Given the description of an element on the screen output the (x, y) to click on. 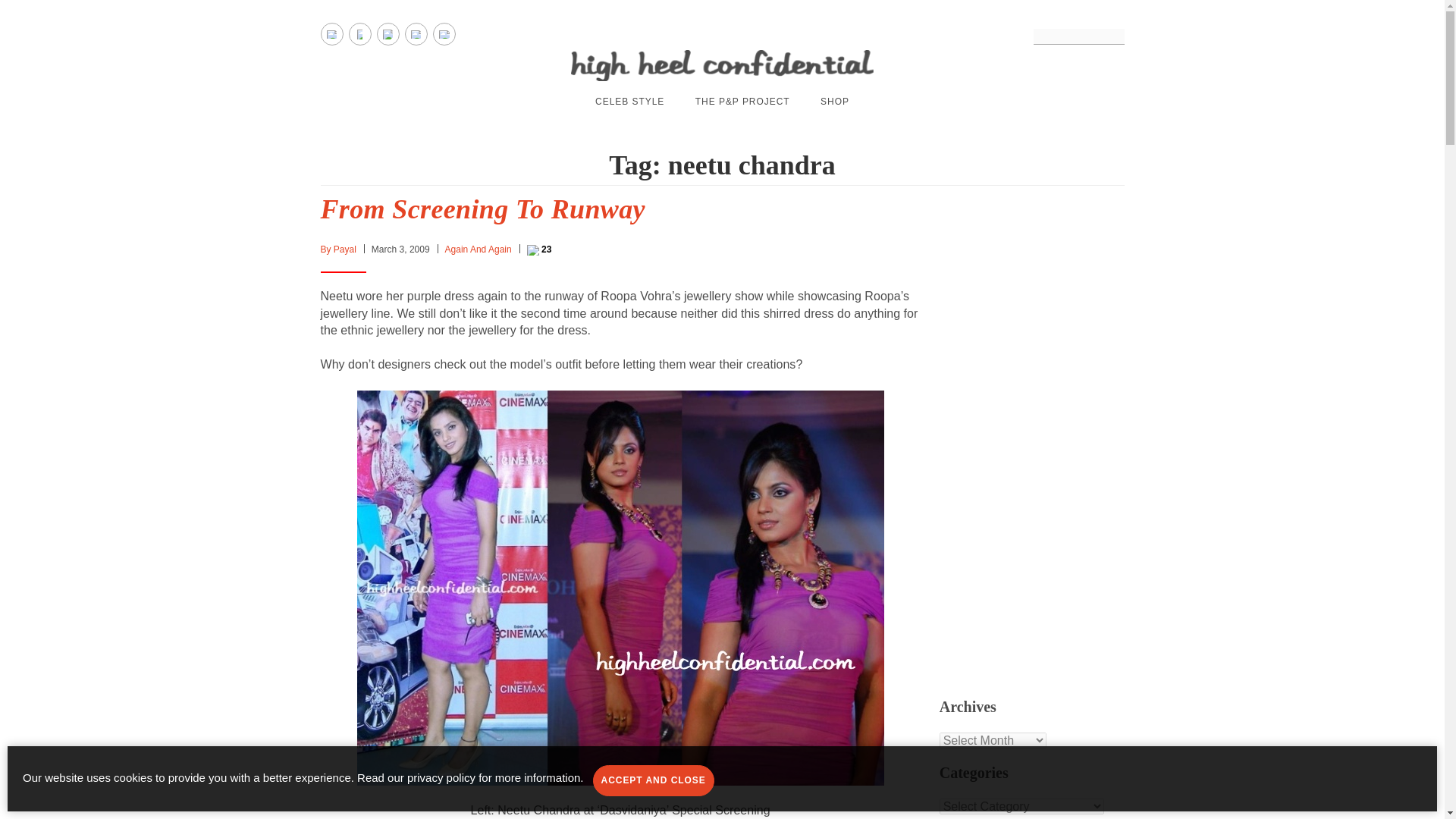
neetu-chandra-roopa-vohra-womens-day.jpg (619, 585)
Again And Again (478, 249)
CELEB STYLE (629, 101)
SHOP (834, 101)
23 (539, 249)
From Screening To Runway (482, 209)
By Payal (337, 249)
High Heel Confidential (721, 65)
